Given the description of an element on the screen output the (x, y) to click on. 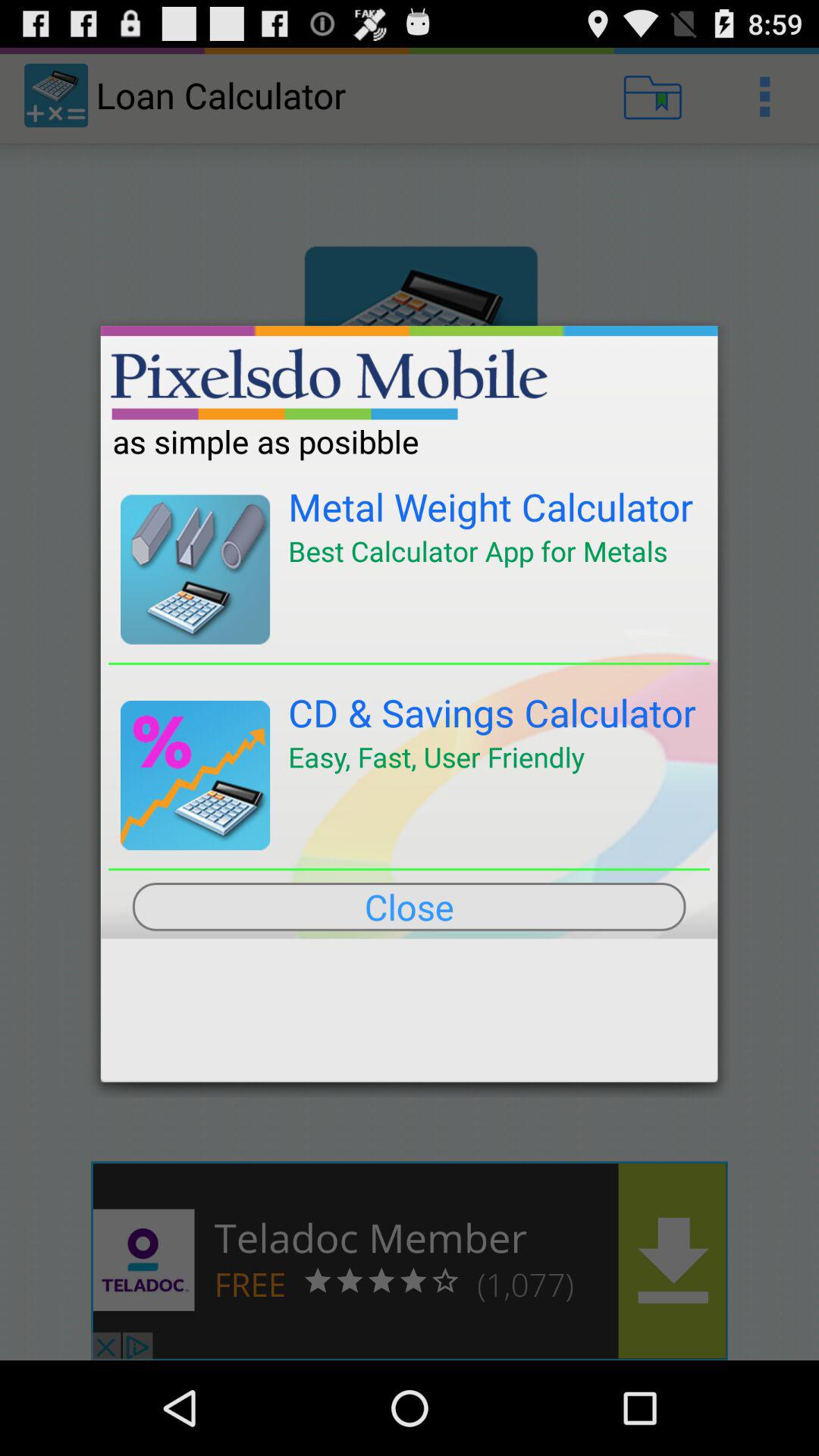
open the item above the cd & savings calculator (408, 663)
